Given the description of an element on the screen output the (x, y) to click on. 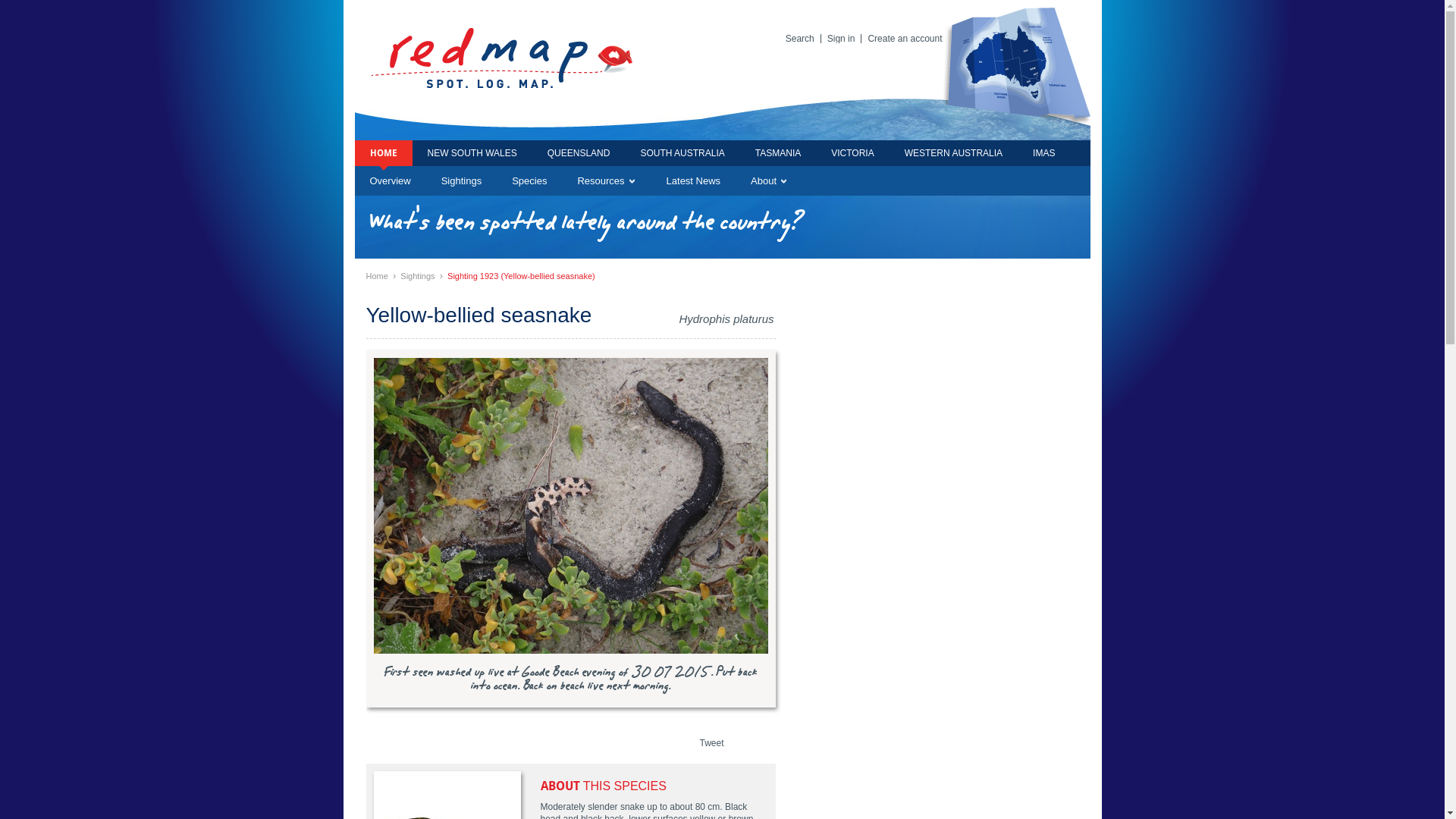
QUEENSLAND Element type: text (578, 153)
Sighting 1923 (Yellow-bellied seasnake) Element type: text (521, 275)
Overview Element type: text (390, 181)
VICTORIA Element type: text (851, 153)
Sign in Element type: text (837, 38)
SOUTH AUSTRALIA Element type: text (681, 153)
NEW SOUTH WALES Element type: text (472, 153)
Latest News Element type: text (693, 181)
Home Element type: text (376, 275)
TASMANIA Element type: text (777, 153)
Sightings Element type: text (417, 275)
Tweet Element type: text (711, 742)
WESTERN AUSTRALIA Element type: text (953, 153)
Search Element type: text (799, 38)
HOME Element type: text (383, 153)
Species Element type: text (528, 181)
About Element type: text (768, 181)
LOG A SIGHTING Element type: text (874, 69)
IMAS Element type: text (1043, 153)
Resources Element type: text (606, 181)
Sightings Element type: text (461, 181)
Create an account Element type: text (900, 38)
